Given the description of an element on the screen output the (x, y) to click on. 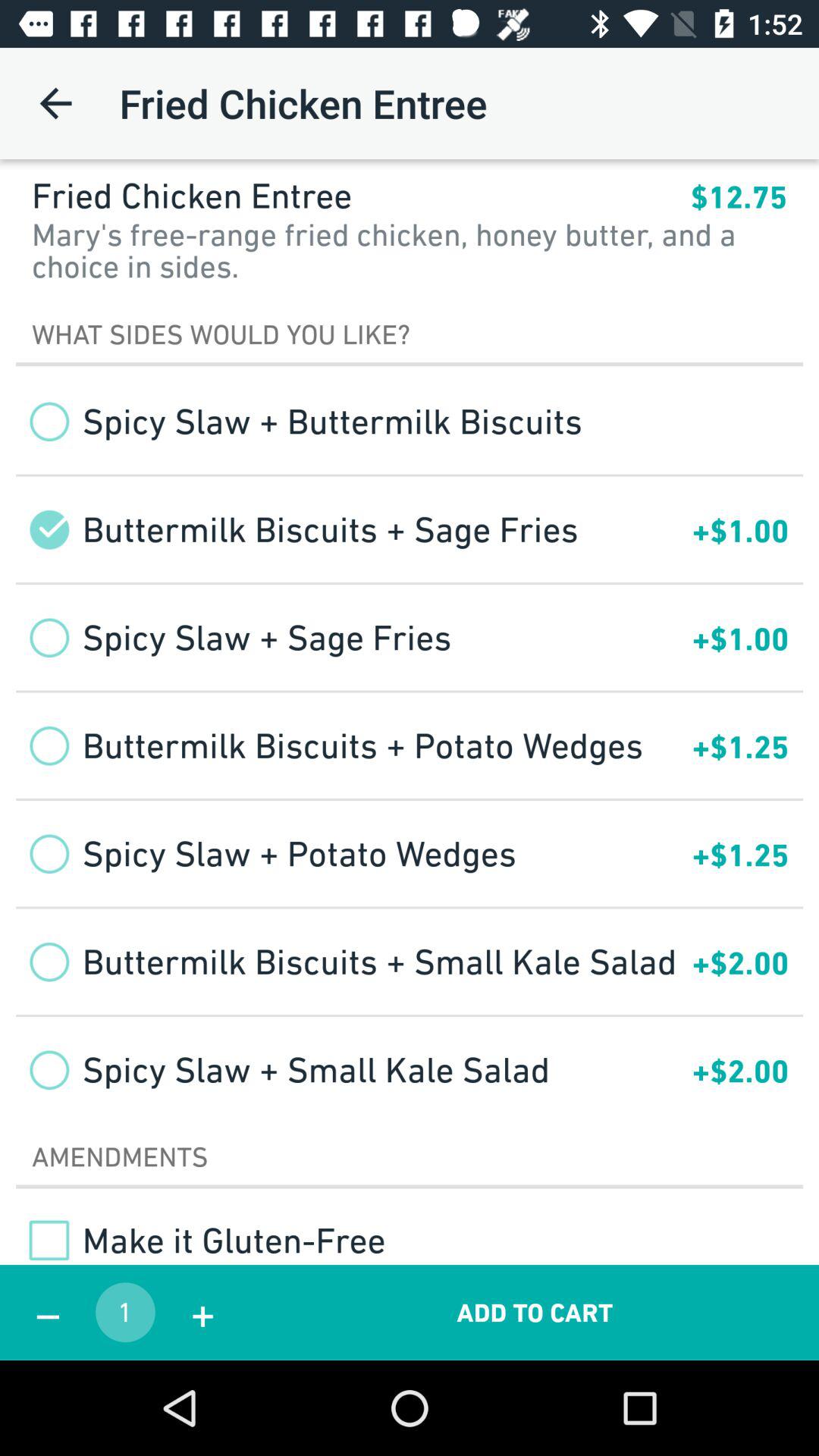
swipe to the add to cart item (534, 1312)
